Given the description of an element on the screen output the (x, y) to click on. 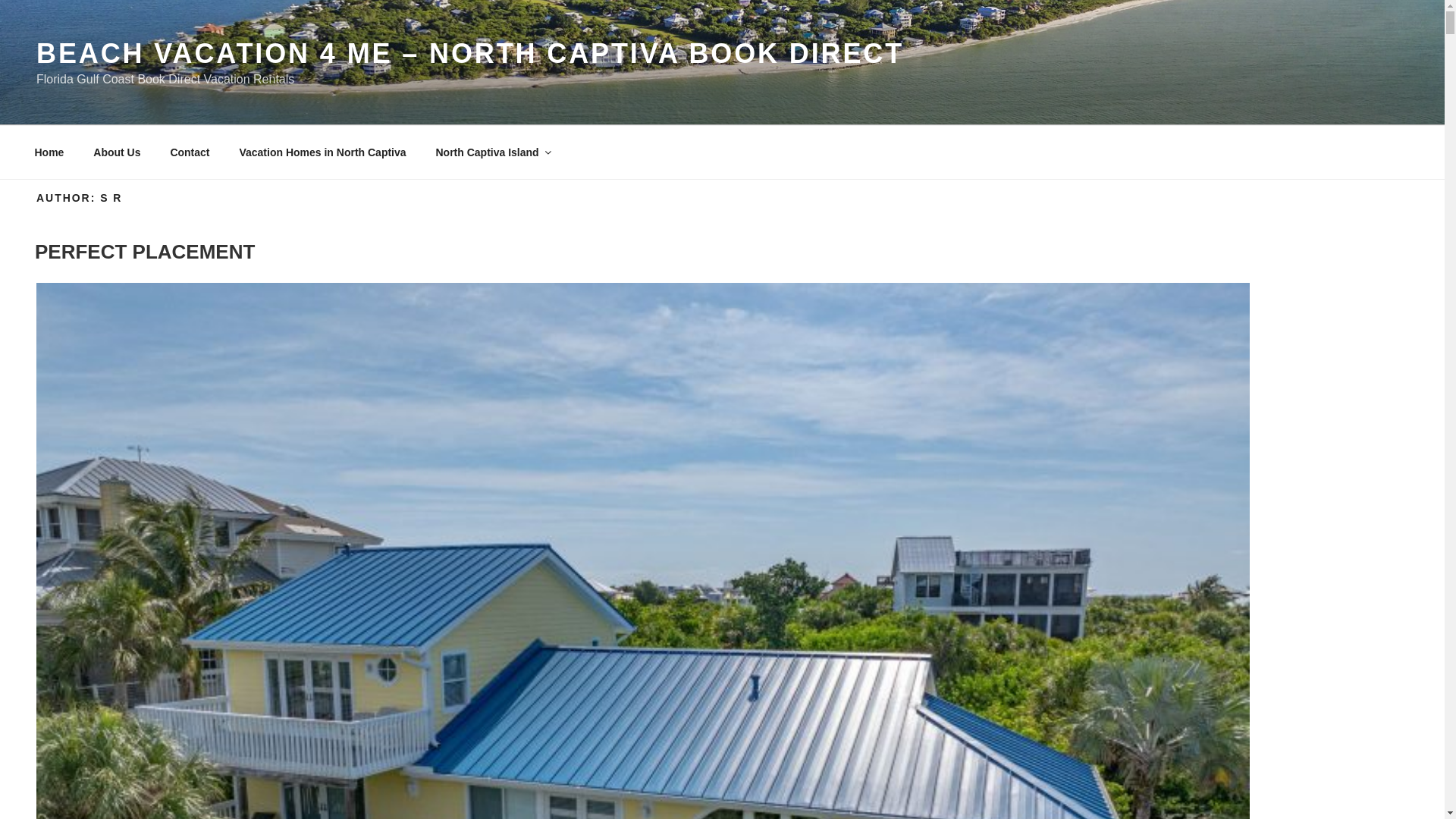
Home (49, 151)
Vacation Homes in North Captiva (322, 151)
PERFECT PLACEMENT (144, 251)
About Us (117, 151)
North Captiva Island (492, 151)
Contact (189, 151)
